Given the description of an element on the screen output the (x, y) to click on. 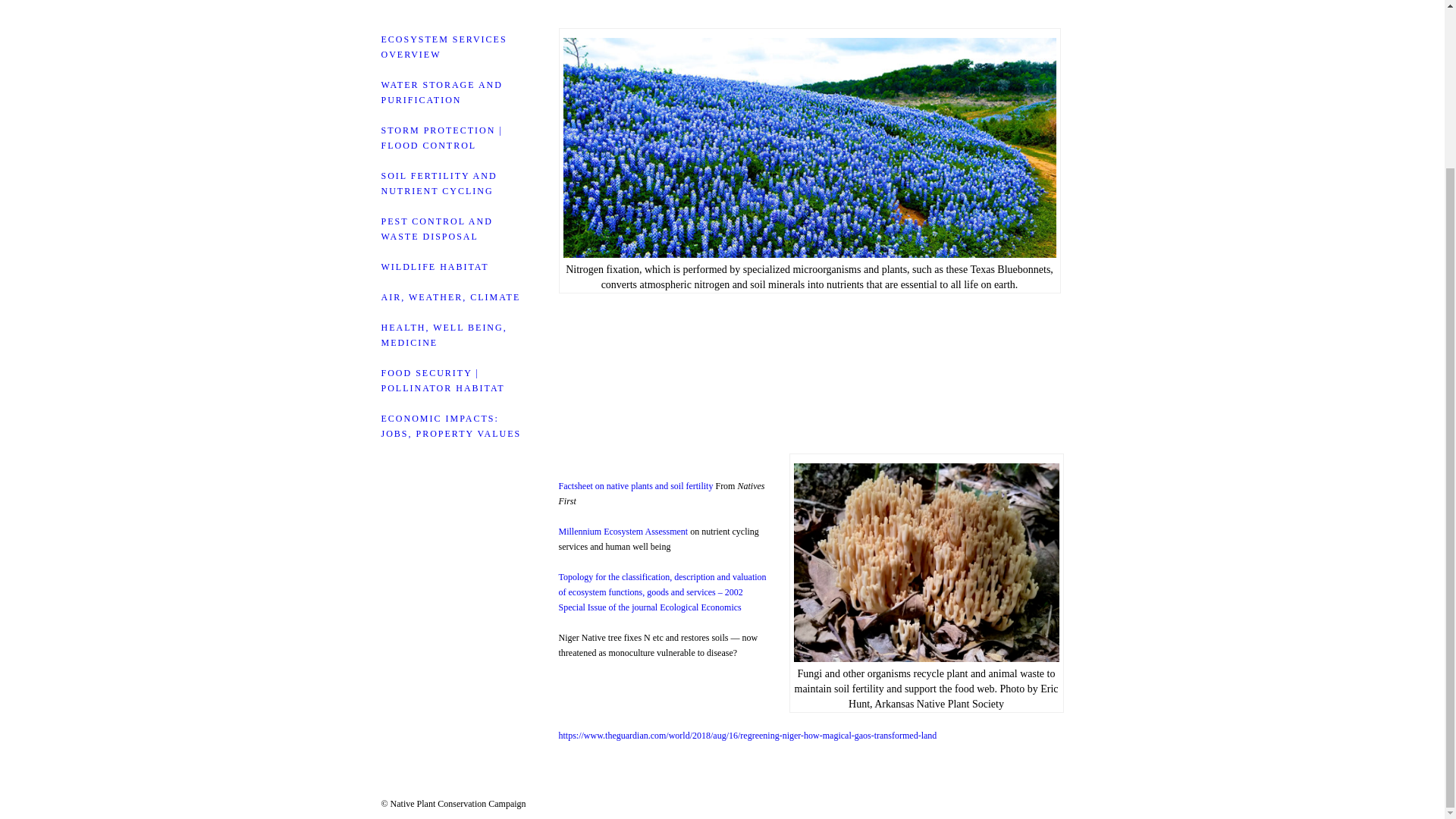
WATER STORAGE AND PURIFICATION (441, 92)
PEST CONTROL AND WASTE DISPOSAL (436, 228)
ECOSYSTEM SERVICES OVERVIEW (443, 46)
HEALTH, WELL BEING, MEDICINE (443, 335)
WILDLIFE HABITAT (433, 266)
SOIL FERTILITY AND NUTRIENT CYCLING (438, 183)
AIR, WEATHER, CLIMATE (449, 296)
Millennium Ecosystem Assessment (622, 531)
Factsheet on native plants and soil fertility (635, 485)
ECONOMIC IMPACTS: JOBS, PROPERTY VALUES (450, 425)
